Given the description of an element on the screen output the (x, y) to click on. 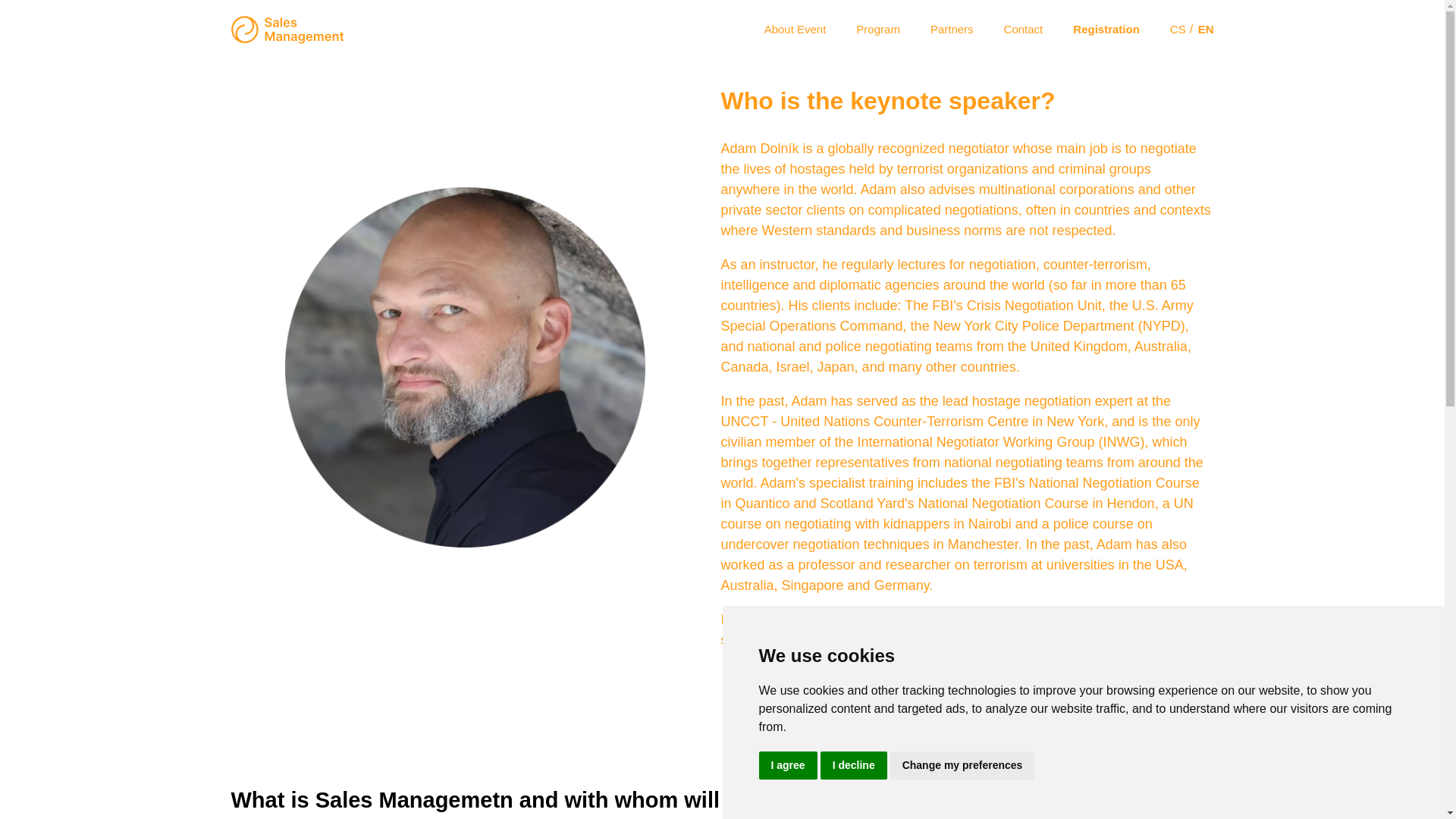
Partners (952, 29)
About Event (795, 29)
I decline (853, 765)
Program (877, 29)
Registration (1106, 29)
I agree (787, 765)
CS (1178, 29)
Contact (1023, 29)
Change my preferences (962, 765)
EN (1206, 29)
